Given the description of an element on the screen output the (x, y) to click on. 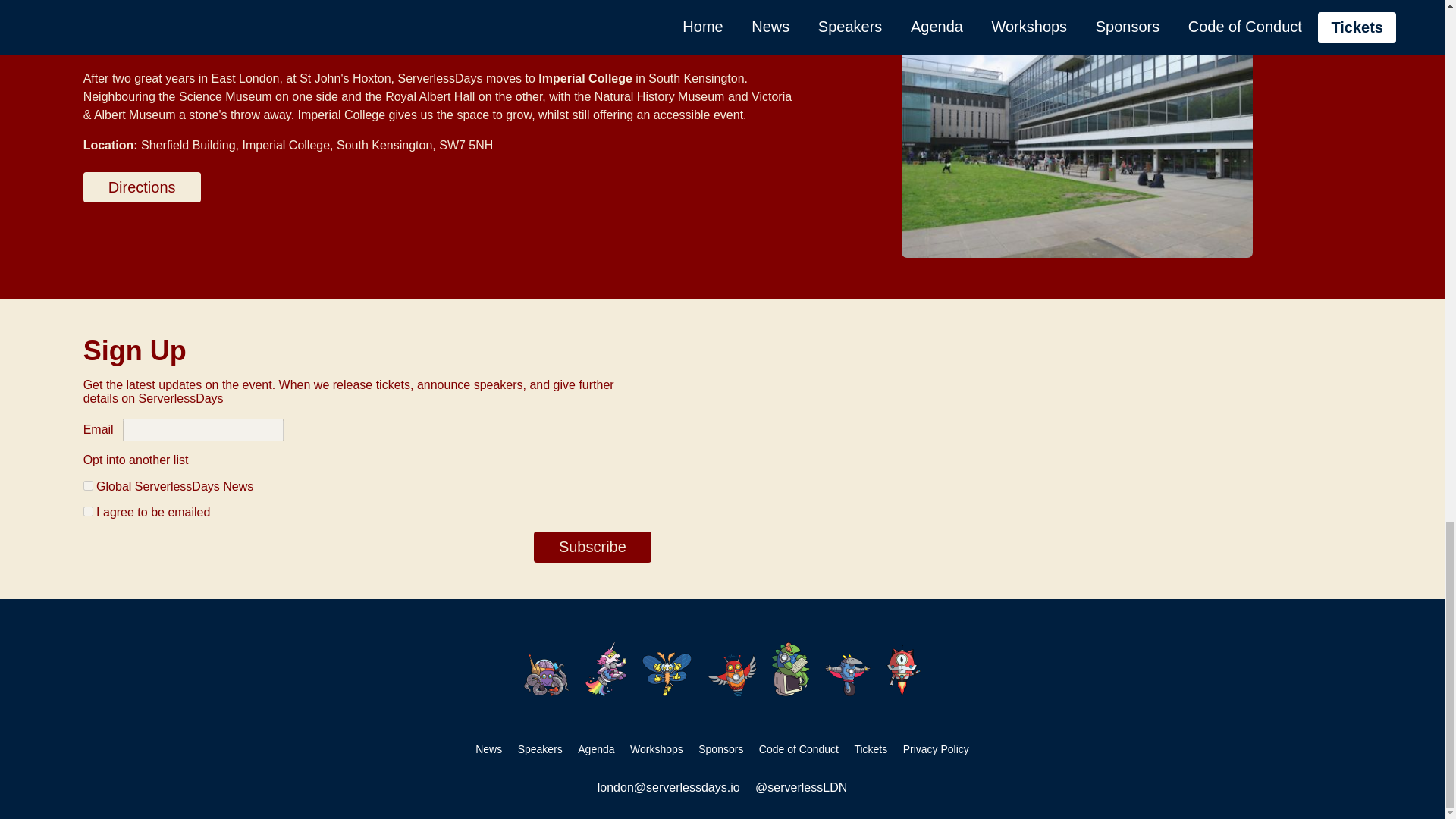
on (87, 511)
on (87, 485)
